Given the description of an element on the screen output the (x, y) to click on. 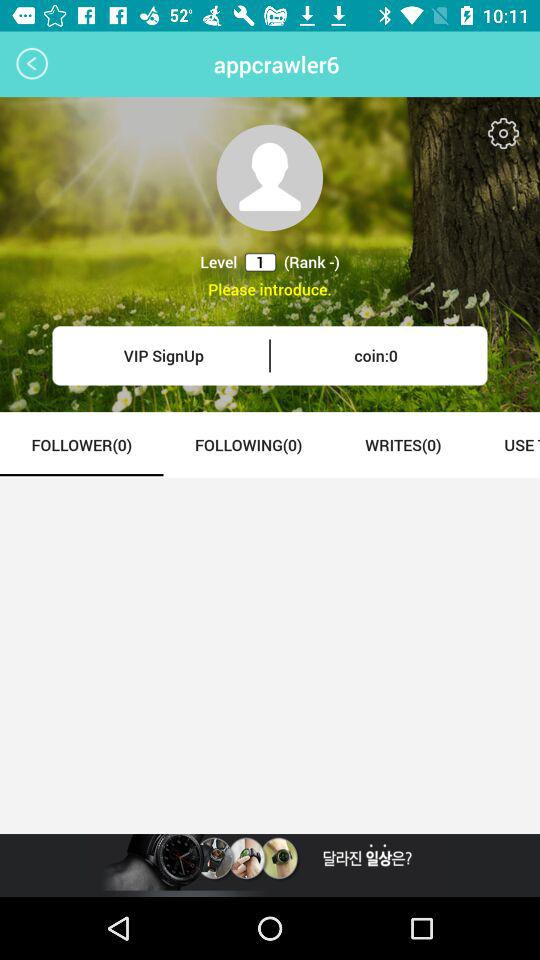
click the item below coin:0 item (402, 444)
